Given the description of an element on the screen output the (x, y) to click on. 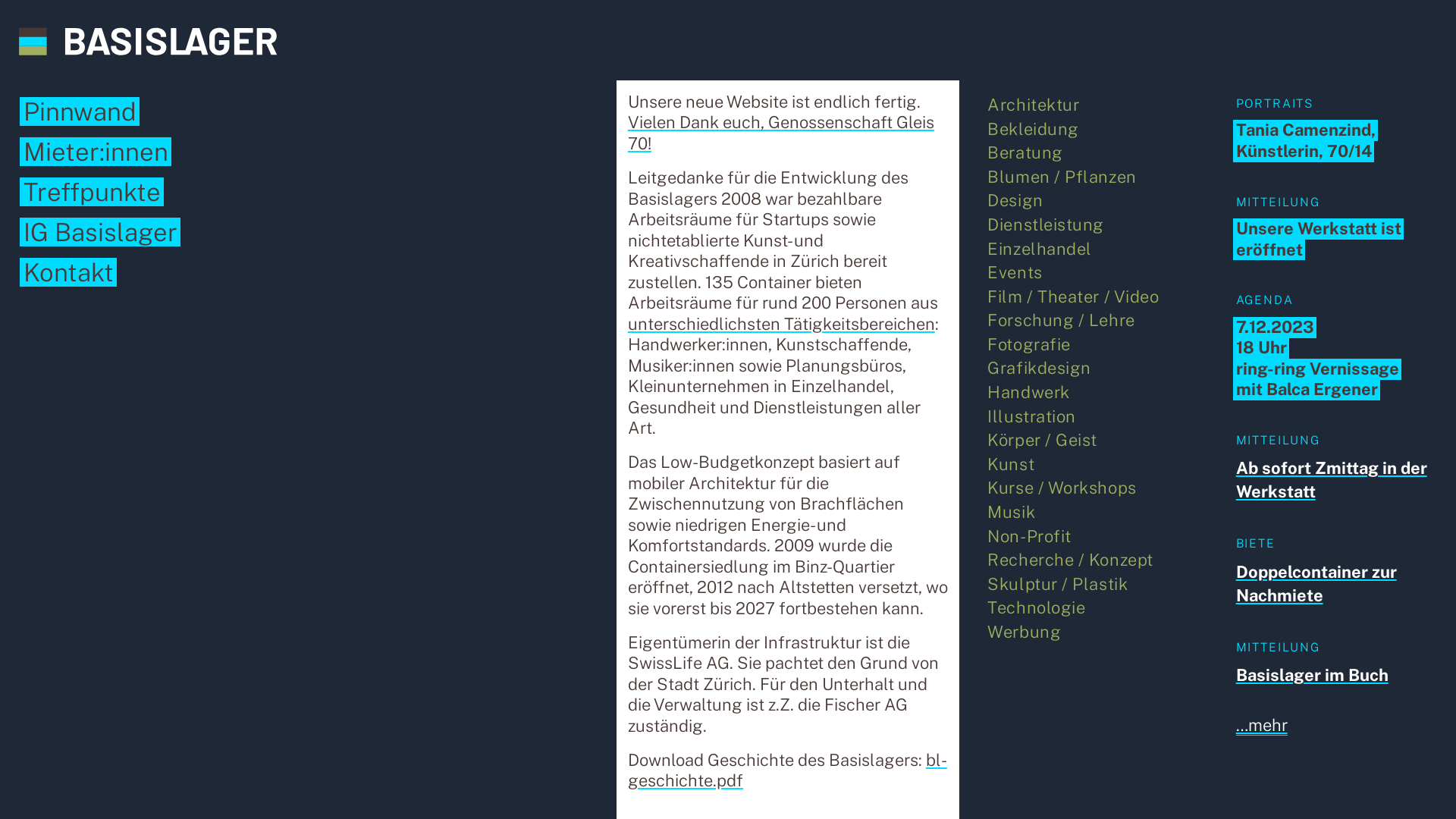
Film / Theater / Video Element type: text (1072, 296)
Kontakt Element type: text (67, 271)
IG Basislager Element type: text (99, 231)
Mieter:innen Element type: text (95, 151)
Skulptur / Plastik Element type: text (1057, 583)
bl-geschichte.pdf Element type: text (787, 769)
Dienstleistung Element type: text (1045, 224)
Pinnwand Element type: text (79, 111)
Technologie Element type: text (1036, 607)
Architektur Element type: text (1033, 104)
Grafikdesign Element type: text (1039, 367)
Events Element type: text (1014, 272)
Non-Profit Element type: text (1029, 536)
Vielen Dank euch, Genossenschaft Gleis 70! Element type: text (780, 132)
Illustration Element type: text (1031, 416)
Basislager im Buch Element type: text (1312, 674)
Kunst Element type: text (1010, 463)
Handwerk Element type: text (1028, 391)
7.12.2023
18 Uhr
ring-ring Vernissage mit Balca Ergener Element type: text (1317, 357)
Forschung / Lehre Element type: text (1060, 319)
Werbung Element type: text (1023, 631)
Blumen / Pflanzen Element type: text (1061, 176)
Bekleidung Element type: text (1033, 128)
Treffpunkte Element type: text (91, 191)
Fotografie Element type: text (1028, 344)
Kurse / Workshops Element type: text (1061, 487)
Beratung Element type: text (1024, 152)
Ab sofort Zmittag in der Werkstatt Element type: text (1331, 479)
Musik Element type: text (1011, 511)
Recherche / Konzept Element type: text (1069, 559)
Design Element type: text (1014, 200)
Einzelhandel Element type: text (1039, 247)
Doppelcontainer zur Nachmiete Element type: text (1316, 583)
